Given the description of an element on the screen output the (x, y) to click on. 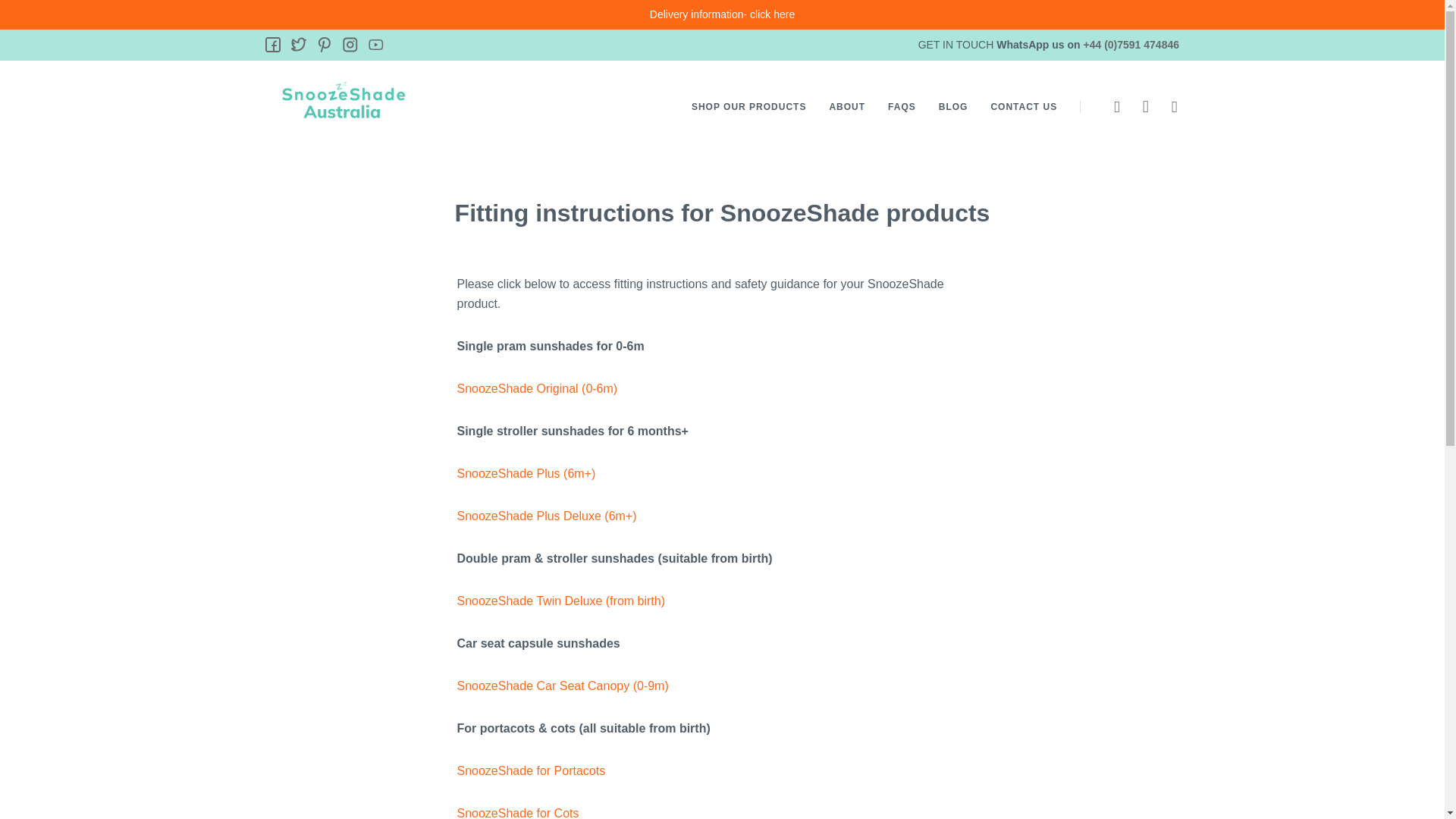
SHOP OUR PRODUCTS (748, 106)
CONTACT US (1023, 106)
SnoozeShade for Portacots (531, 770)
Choose your SnoozeShade Car Seat Canopy (562, 685)
SnoozeShade for Cots (517, 812)
ABOUT (846, 106)
BLOG (953, 106)
SnoozeShade for Cots (517, 812)
Fitting instructions for SnoozeShade Twin Deluxe (561, 600)
How to fit SnoozeShade for Portacots (531, 770)
FAQS (901, 106)
